Given the description of an element on the screen output the (x, y) to click on. 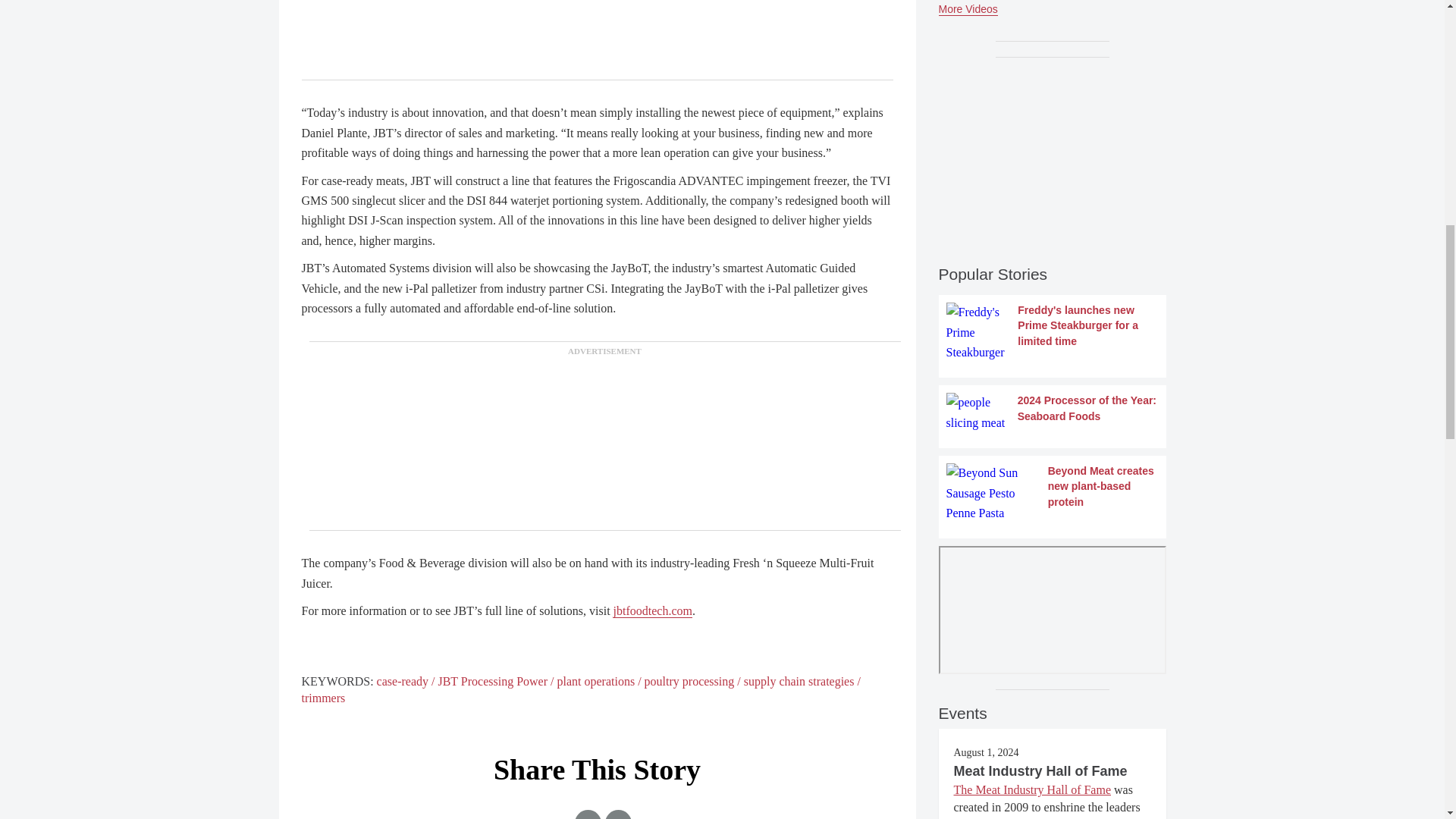
2024 Processor of the Year: Seaboard Foods (1052, 413)
Meat Industry Hall of Fame (1039, 770)
Beyond Meat creates new plant-based protein (1052, 493)
Freddy's launches new Prime Steakburger for a limited time (1052, 332)
